Given the description of an element on the screen output the (x, y) to click on. 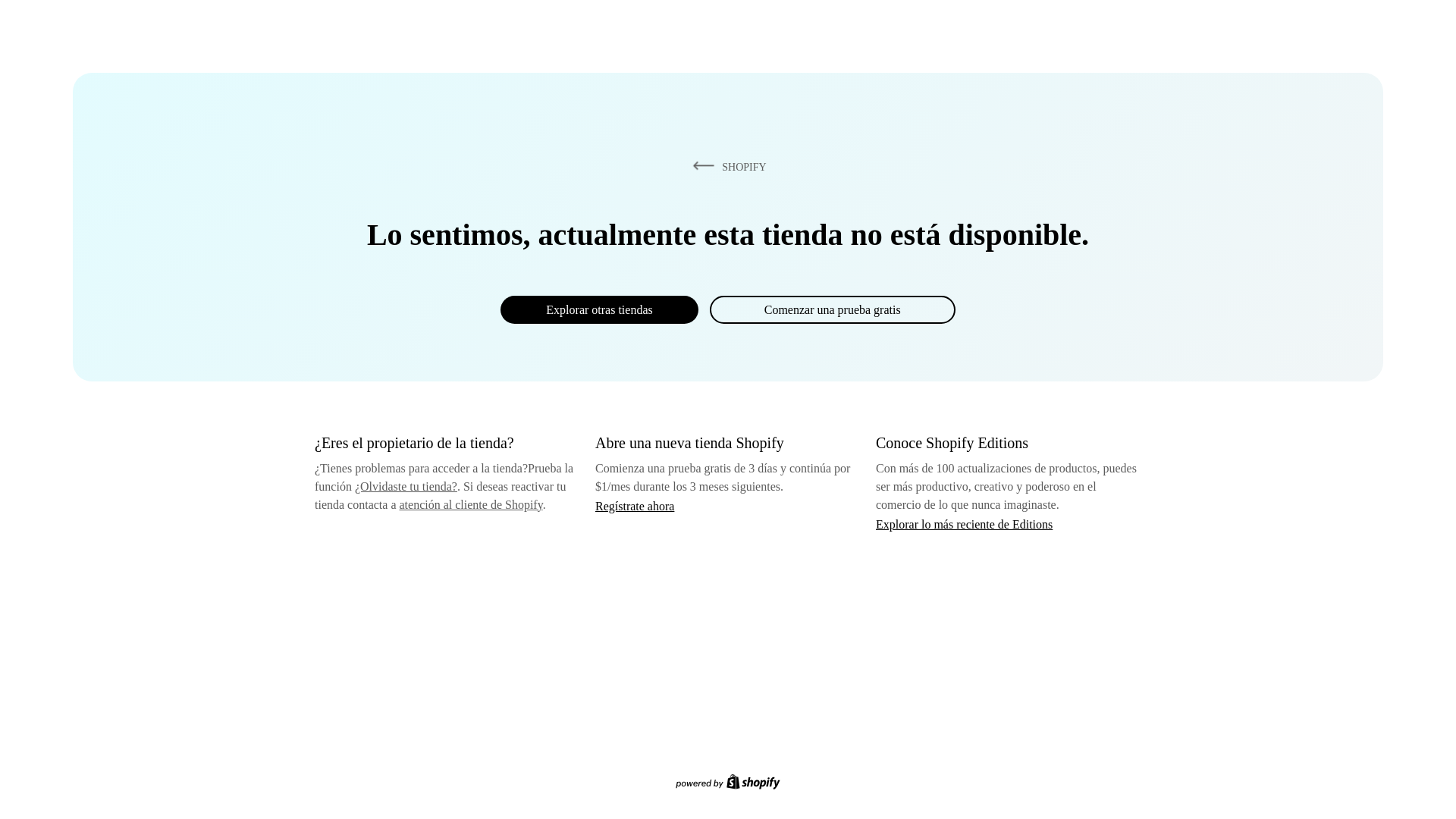
Comenzar una prueba gratis (832, 309)
SHOPIFY (726, 166)
Explorar otras tiendas (598, 309)
